Given the description of an element on the screen output the (x, y) to click on. 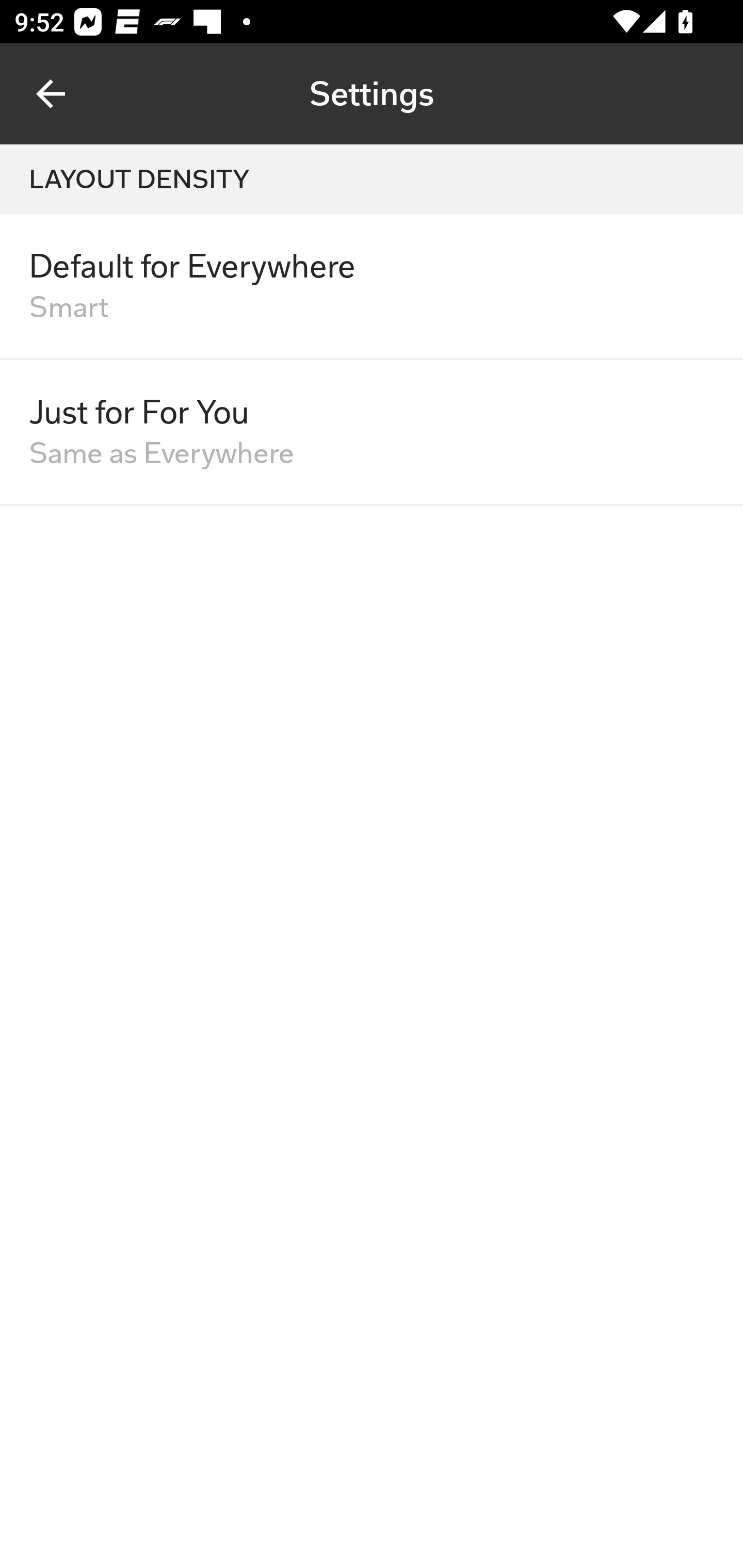
Back (50, 93)
LAYOUT DENSITY (371, 179)
Default for Everywhere Smart (371, 286)
Just for For You Same as Everywhere (371, 432)
